Given the description of an element on the screen output the (x, y) to click on. 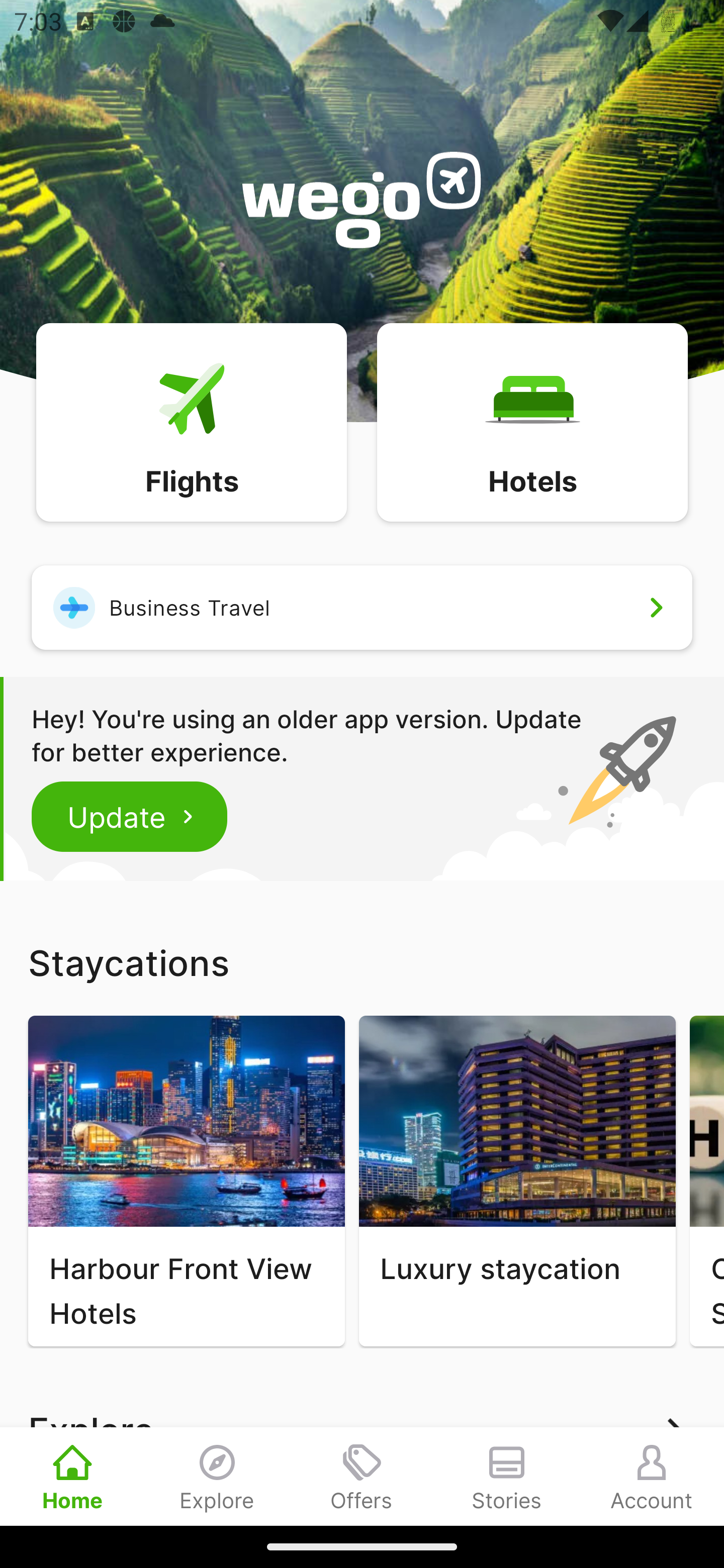
Flights (191, 420)
Hotels (532, 420)
Business Travel (361, 607)
Update (129, 815)
Staycations (362, 962)
Harbour Front View Hotels (186, 1181)
Luxury staycation (517, 1181)
Explore (216, 1475)
Offers (361, 1475)
Stories (506, 1475)
Account (651, 1475)
